Given the description of an element on the screen output the (x, y) to click on. 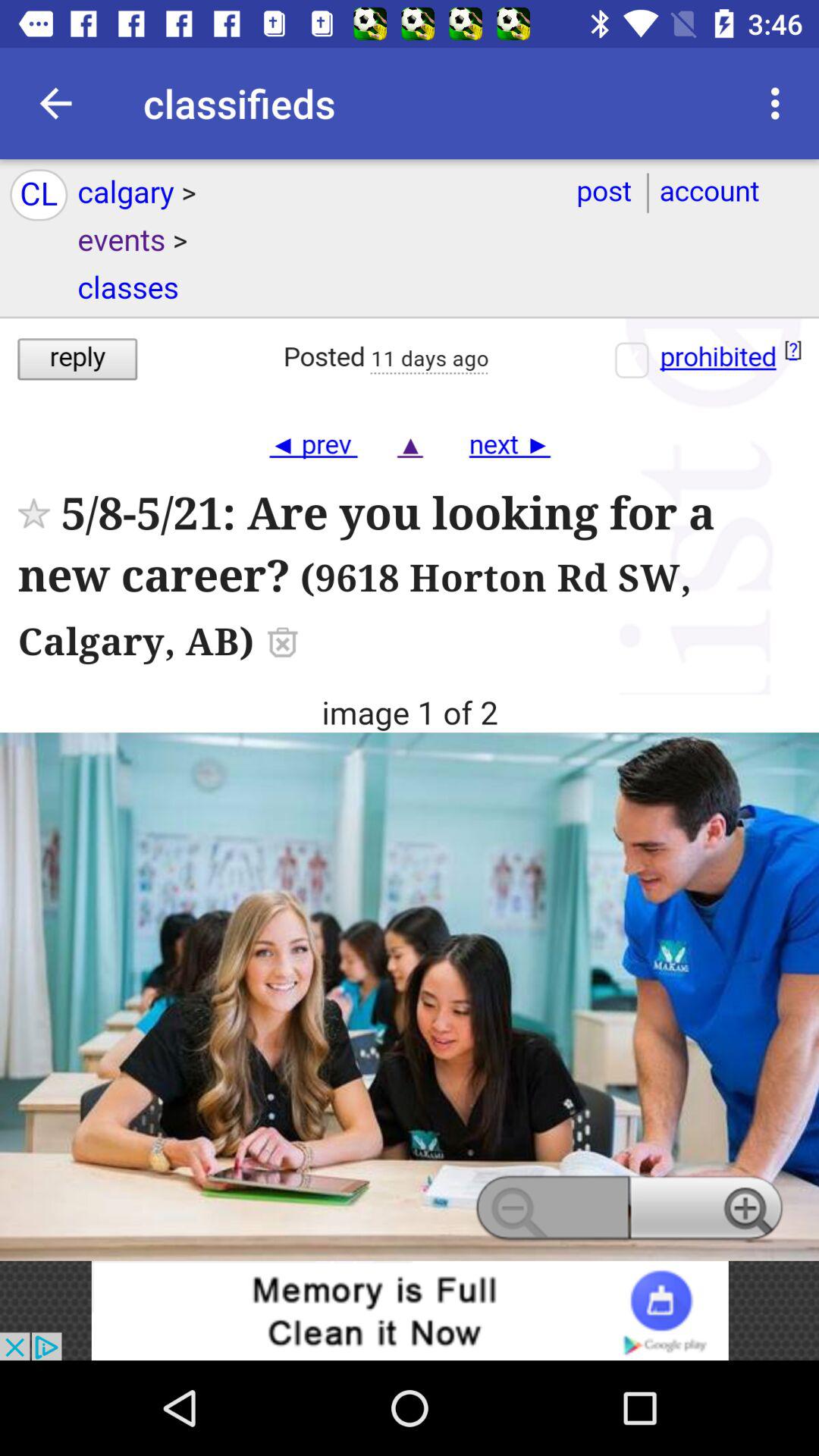
advertisement in middle (409, 709)
